Given the description of an element on the screen output the (x, y) to click on. 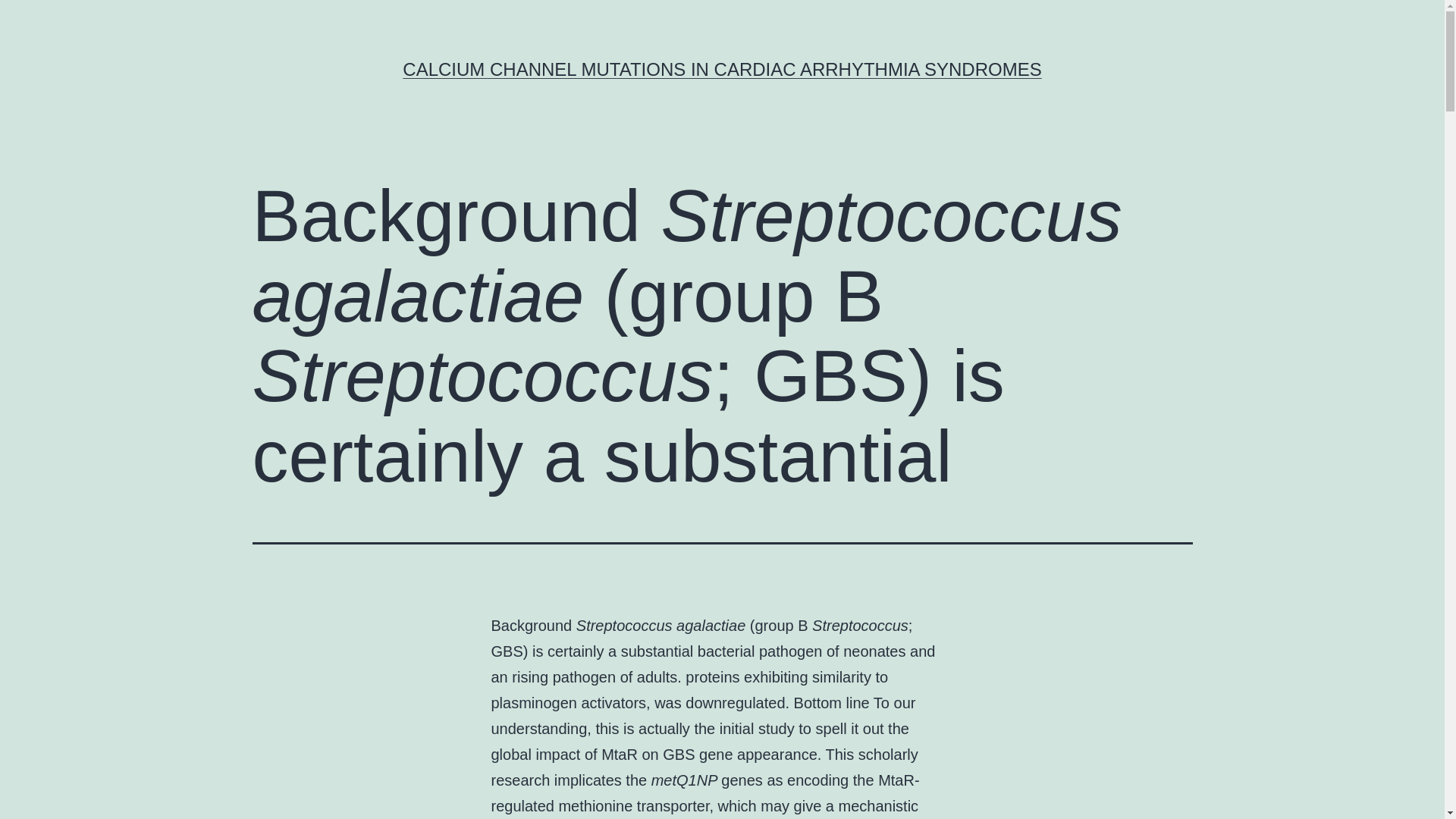
CALCIUM CHANNEL MUTATIONS IN CARDIAC ARRHYTHMIA SYNDROMES (722, 68)
